Given the description of an element on the screen output the (x, y) to click on. 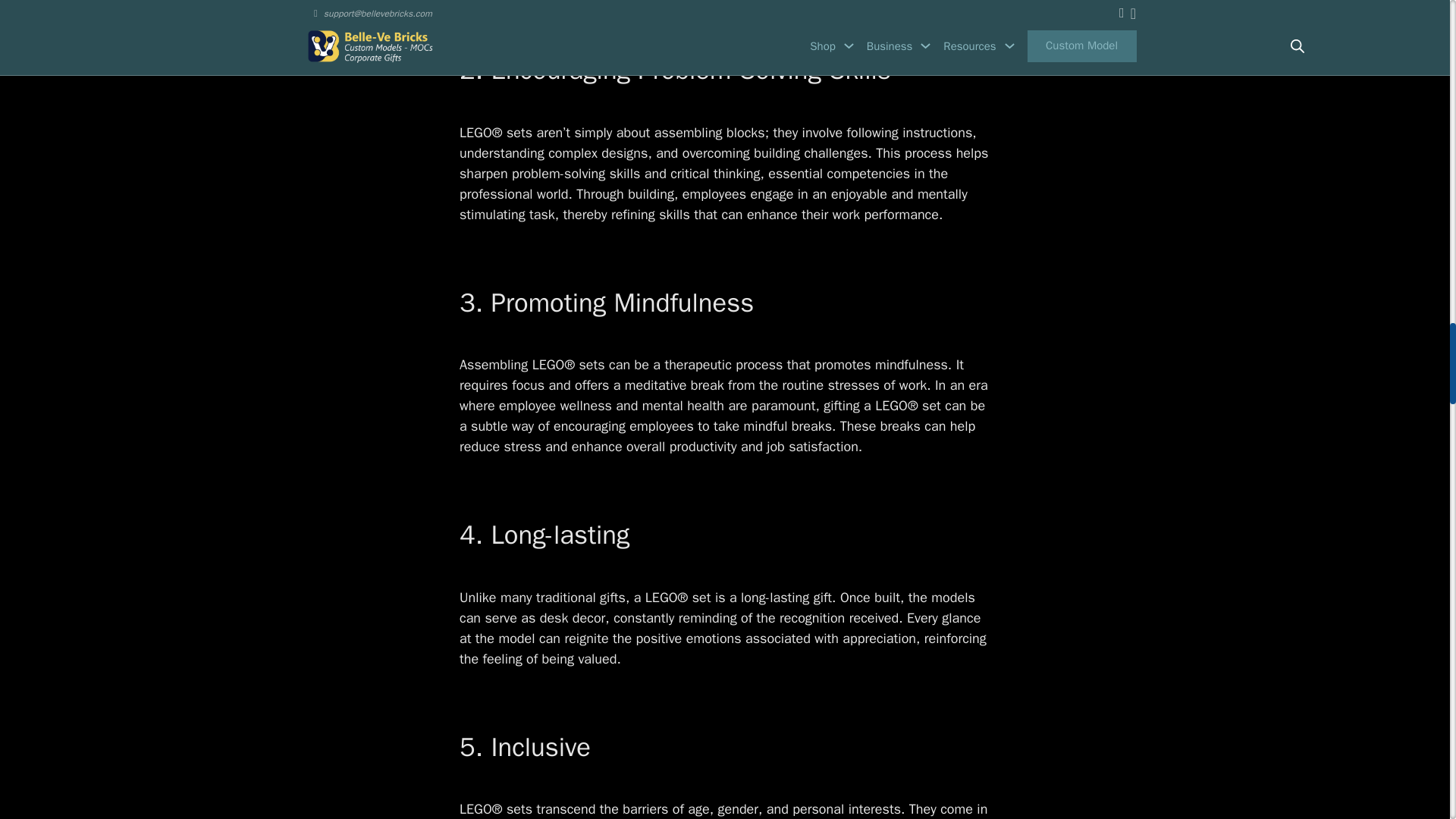
desk decor (572, 617)
